Given the description of an element on the screen output the (x, y) to click on. 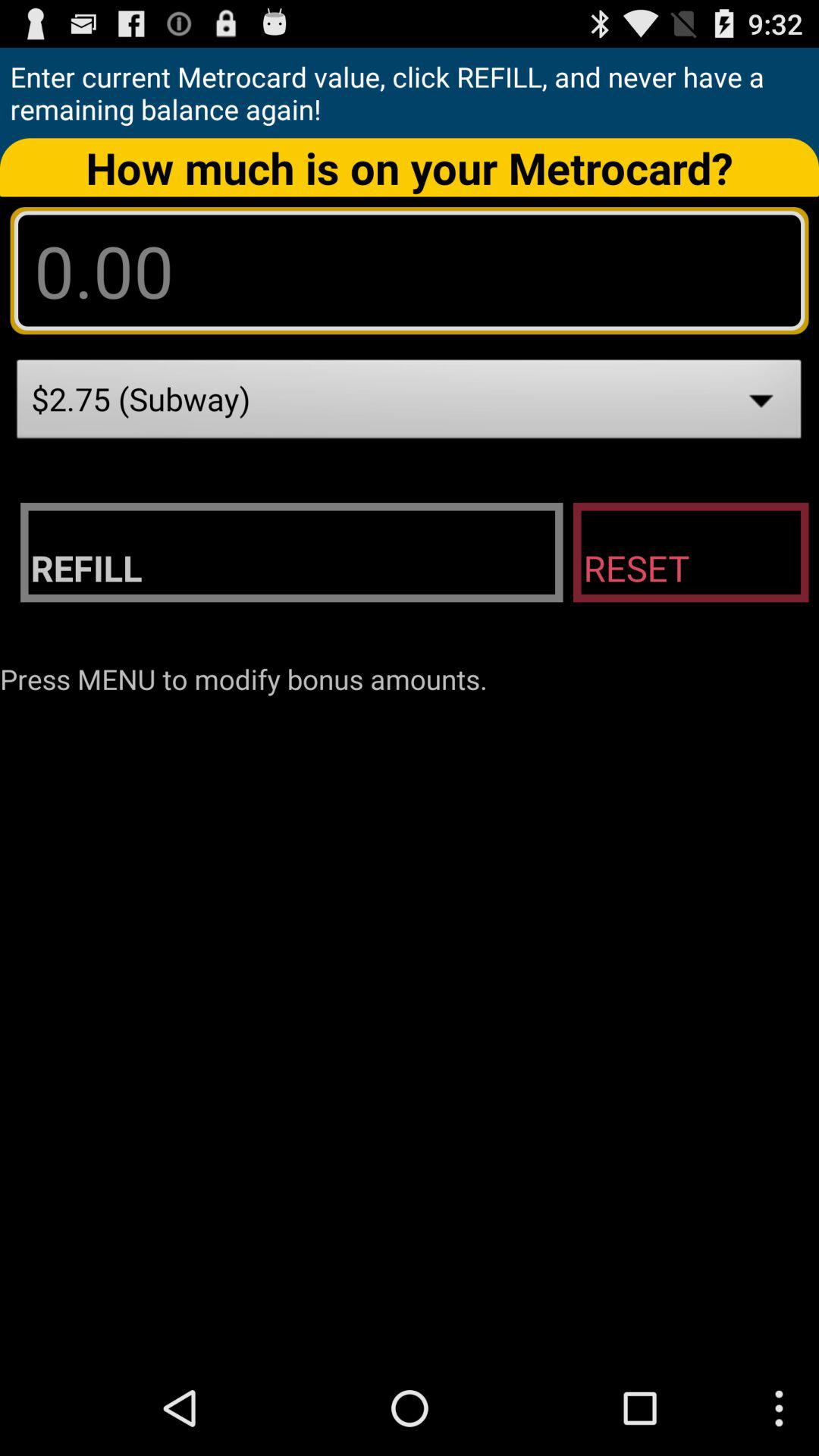
enter metorcard amount (409, 270)
